Given the description of an element on the screen output the (x, y) to click on. 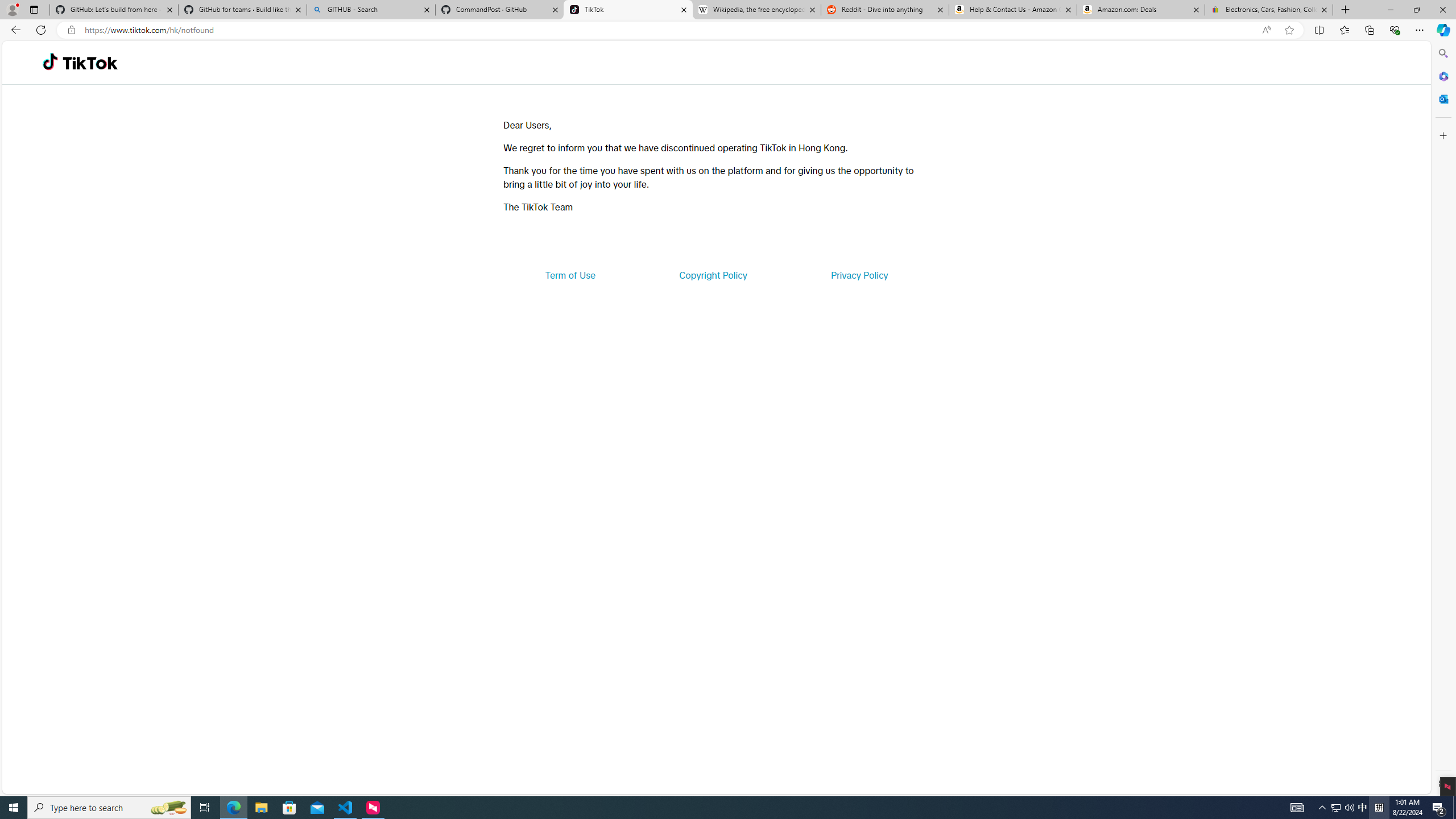
Privacy Policy (858, 274)
TikTok (89, 62)
GITHUB - Search (370, 9)
Wikipedia, the free encyclopedia (756, 9)
